Given the description of an element on the screen output the (x, y) to click on. 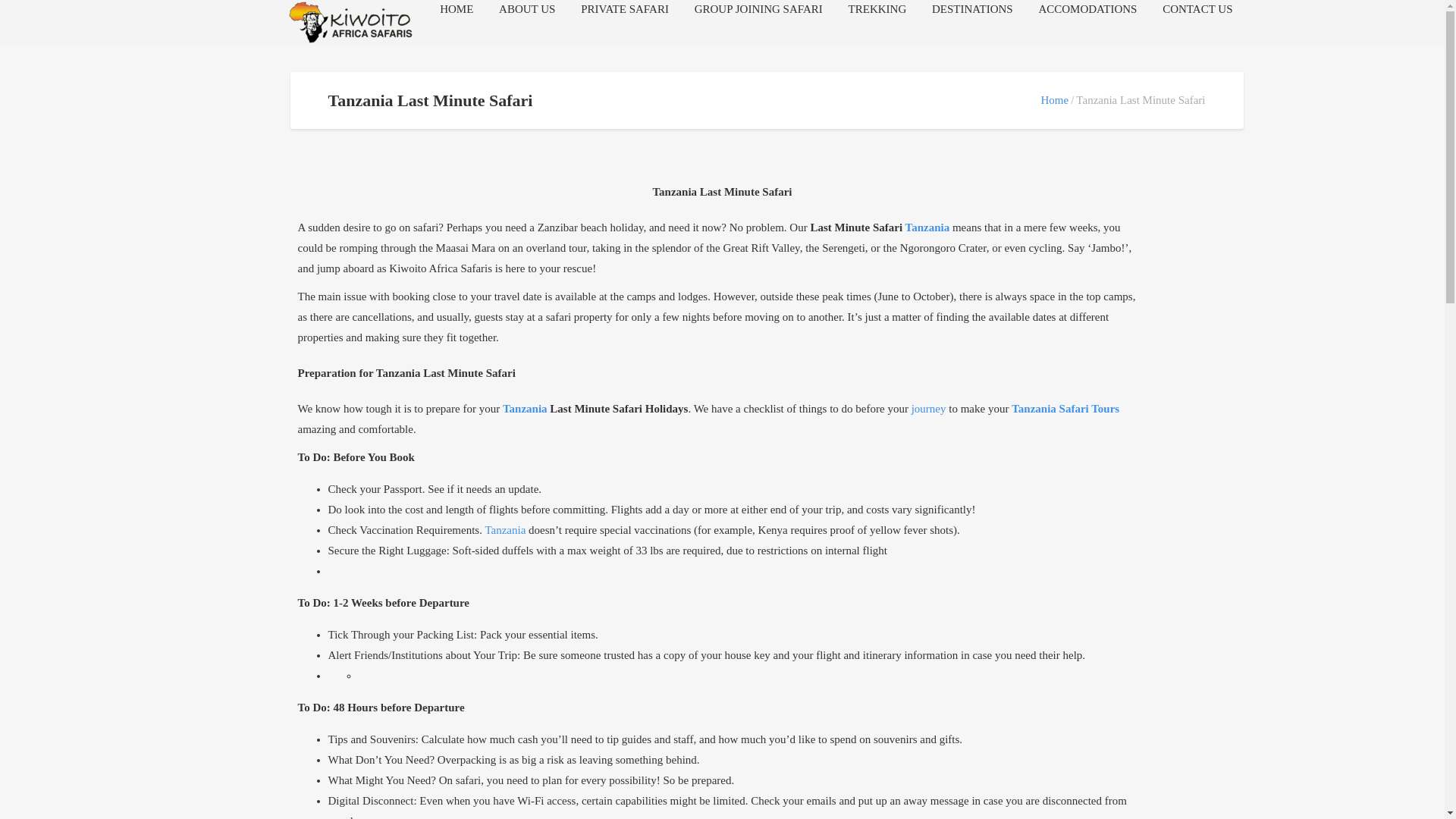
journey (927, 408)
GROUP JOINING SAFARI (758, 9)
African Safari Tours (350, 22)
CONTACT US (1196, 9)
PRIVATE SAFARI (624, 9)
ABOUT US (526, 9)
DESTINATIONS (972, 9)
ACCOMODATIONS (1087, 9)
HOME (456, 9)
Tanzania (524, 408)
TREKKING (877, 9)
Tanzania (927, 227)
Home (1054, 100)
